Given the description of an element on the screen output the (x, y) to click on. 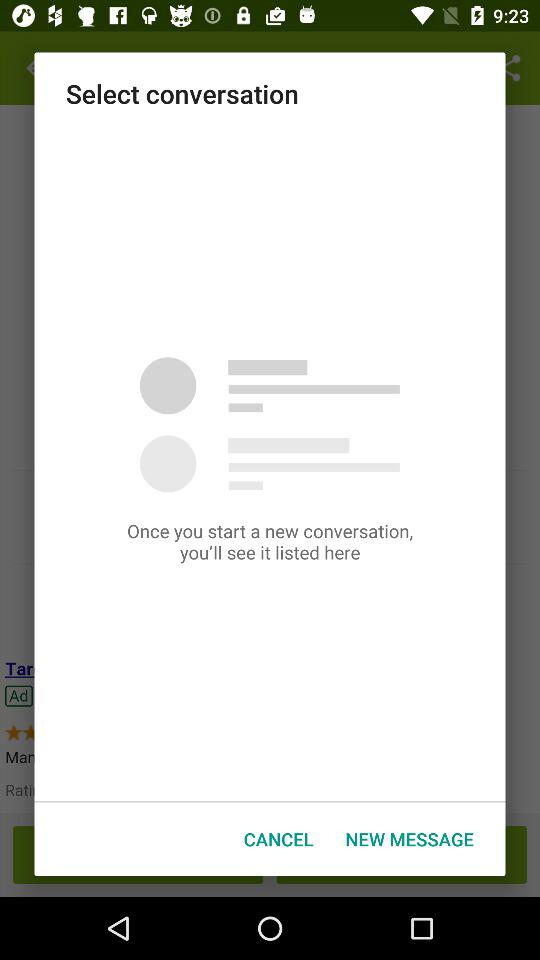
press the new message icon (409, 838)
